Given the description of an element on the screen output the (x, y) to click on. 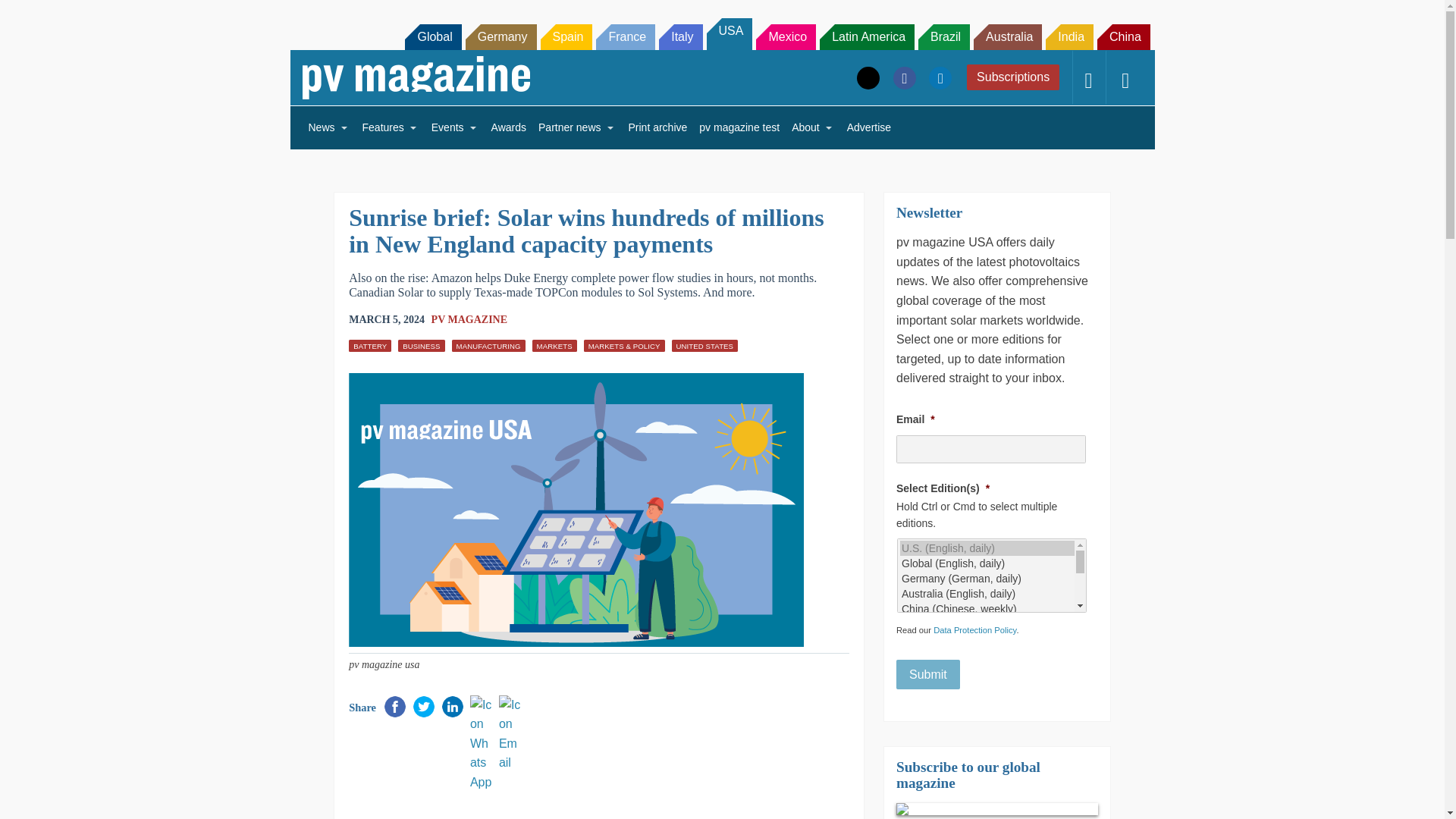
pv magazine - Photovoltaics Markets and Technology (415, 77)
USA (729, 33)
Global (432, 36)
Submit (927, 675)
Posts by pv magazine (468, 319)
China (1123, 36)
Mexico (785, 36)
India (1069, 36)
Search (32, 15)
Latin America (866, 36)
